Given the description of an element on the screen output the (x, y) to click on. 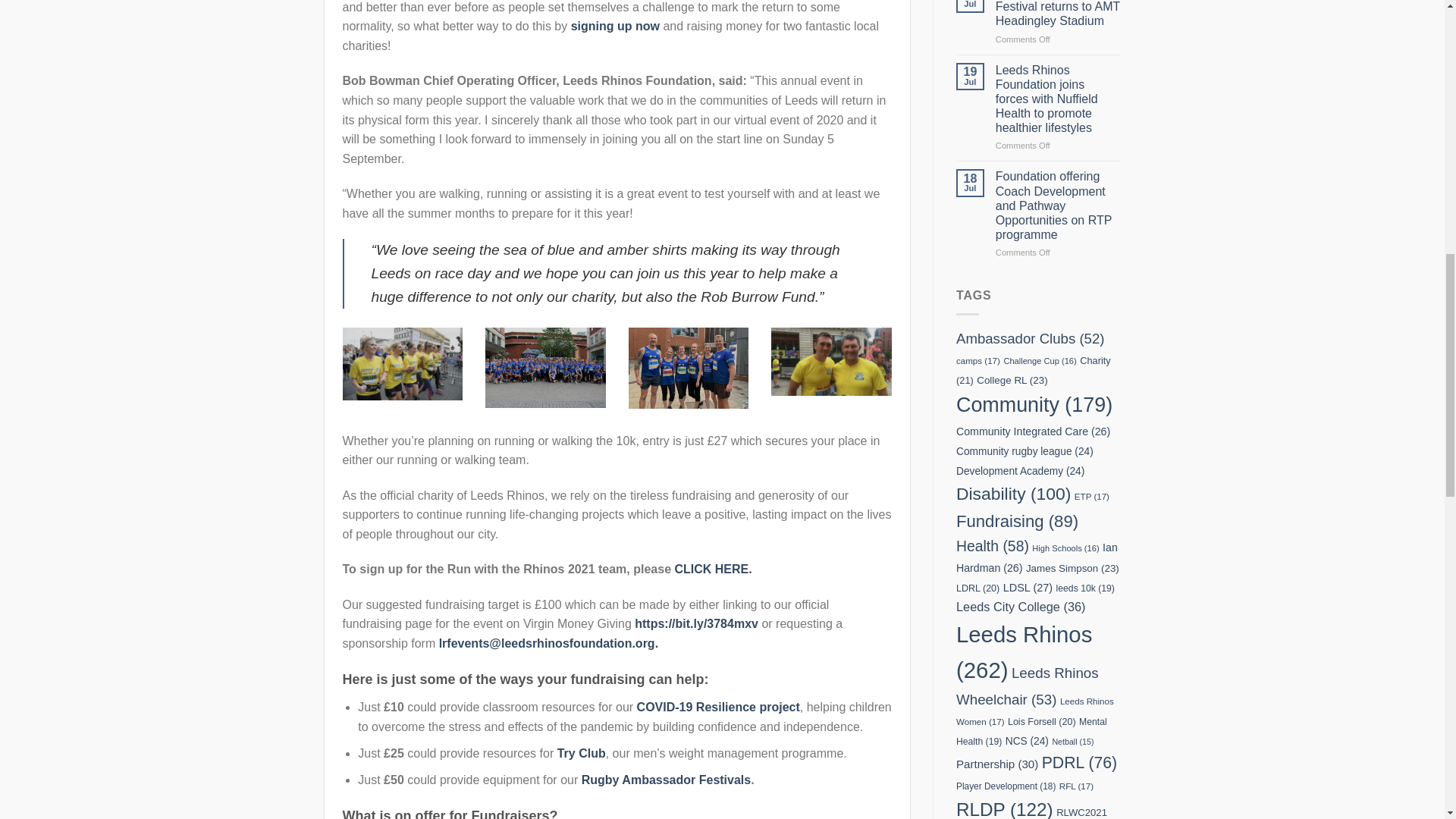
Aspire Tag Rugby Festival returns to AMT Headingley Stadium (1058, 14)
